Given the description of an element on the screen output the (x, y) to click on. 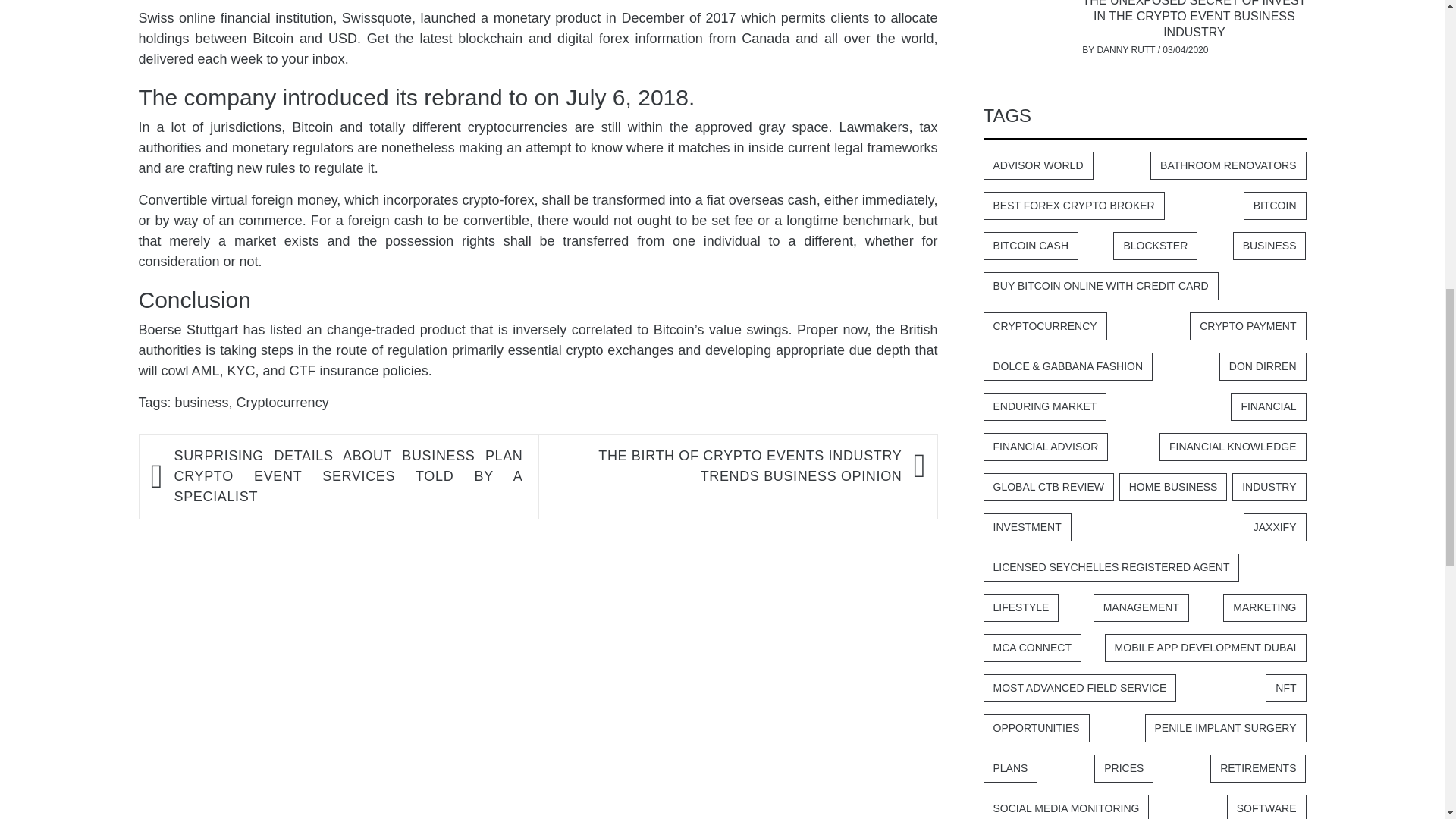
Cryptocurrency (282, 402)
business (201, 402)
THE BIRTH OF CRYPTO EVENTS INDUSTRY TRENDS BUSINESS OPINION (726, 465)
